Given the description of an element on the screen output the (x, y) to click on. 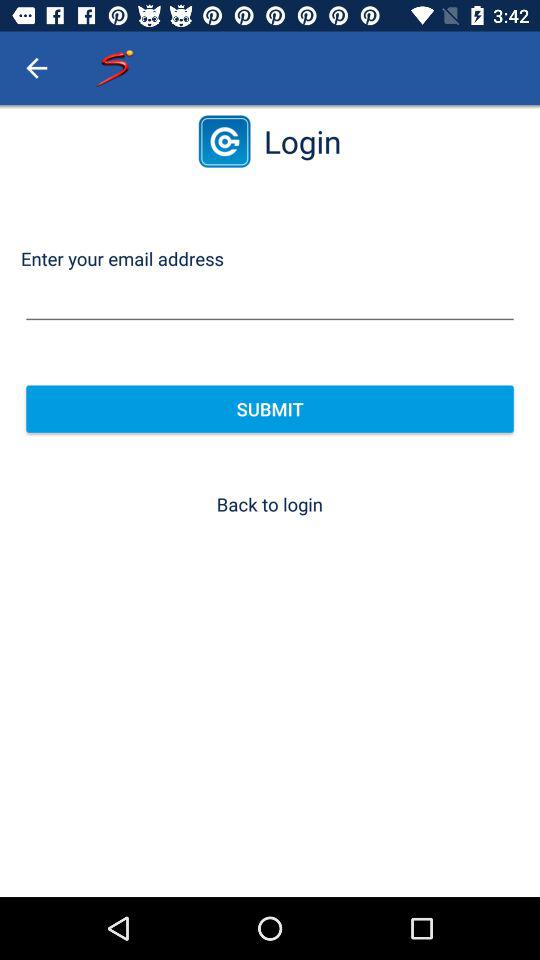
click back to login item (269, 503)
